Given the description of an element on the screen output the (x, y) to click on. 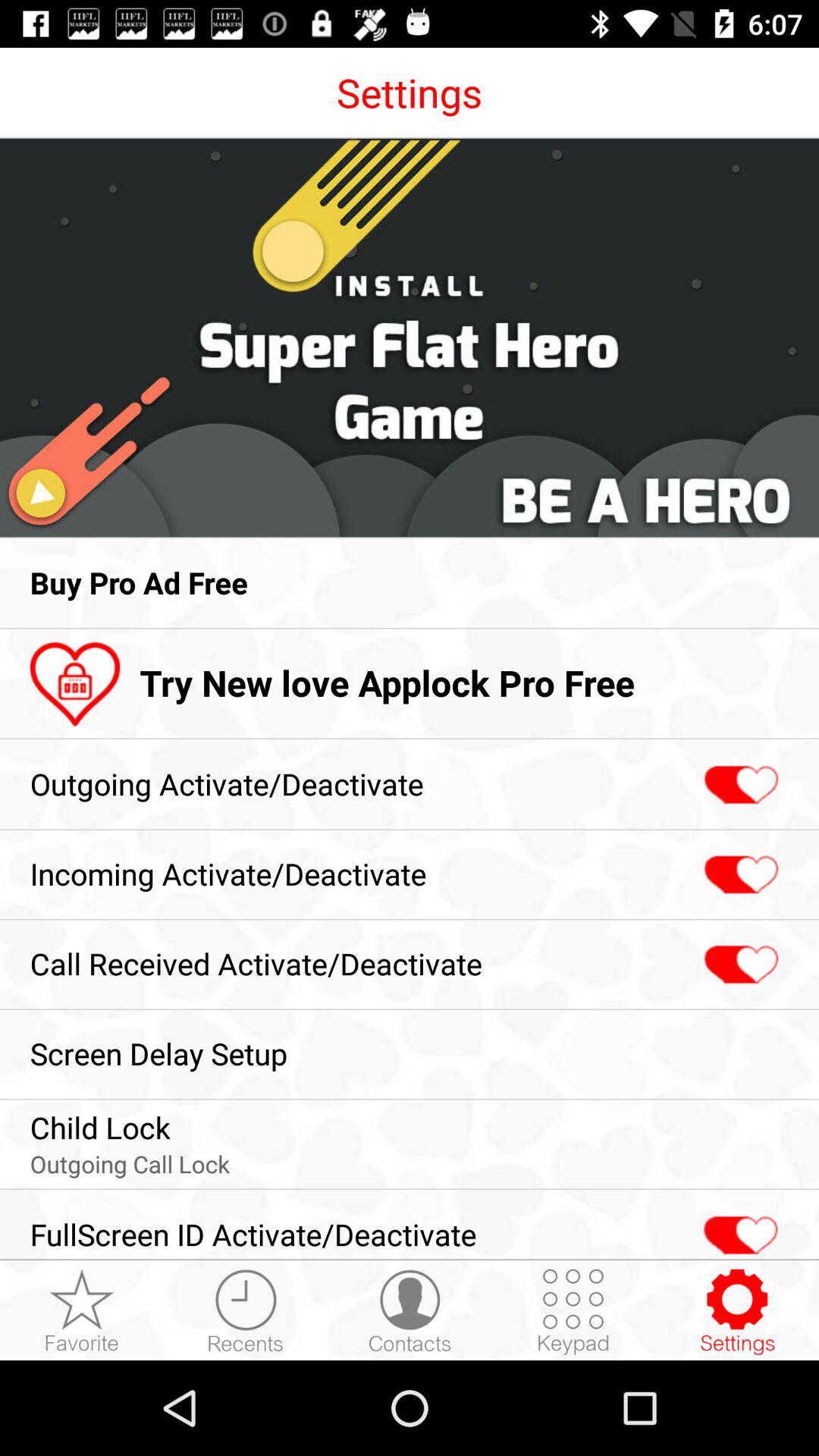
una manera de ser otro (738, 1227)
